Given the description of an element on the screen output the (x, y) to click on. 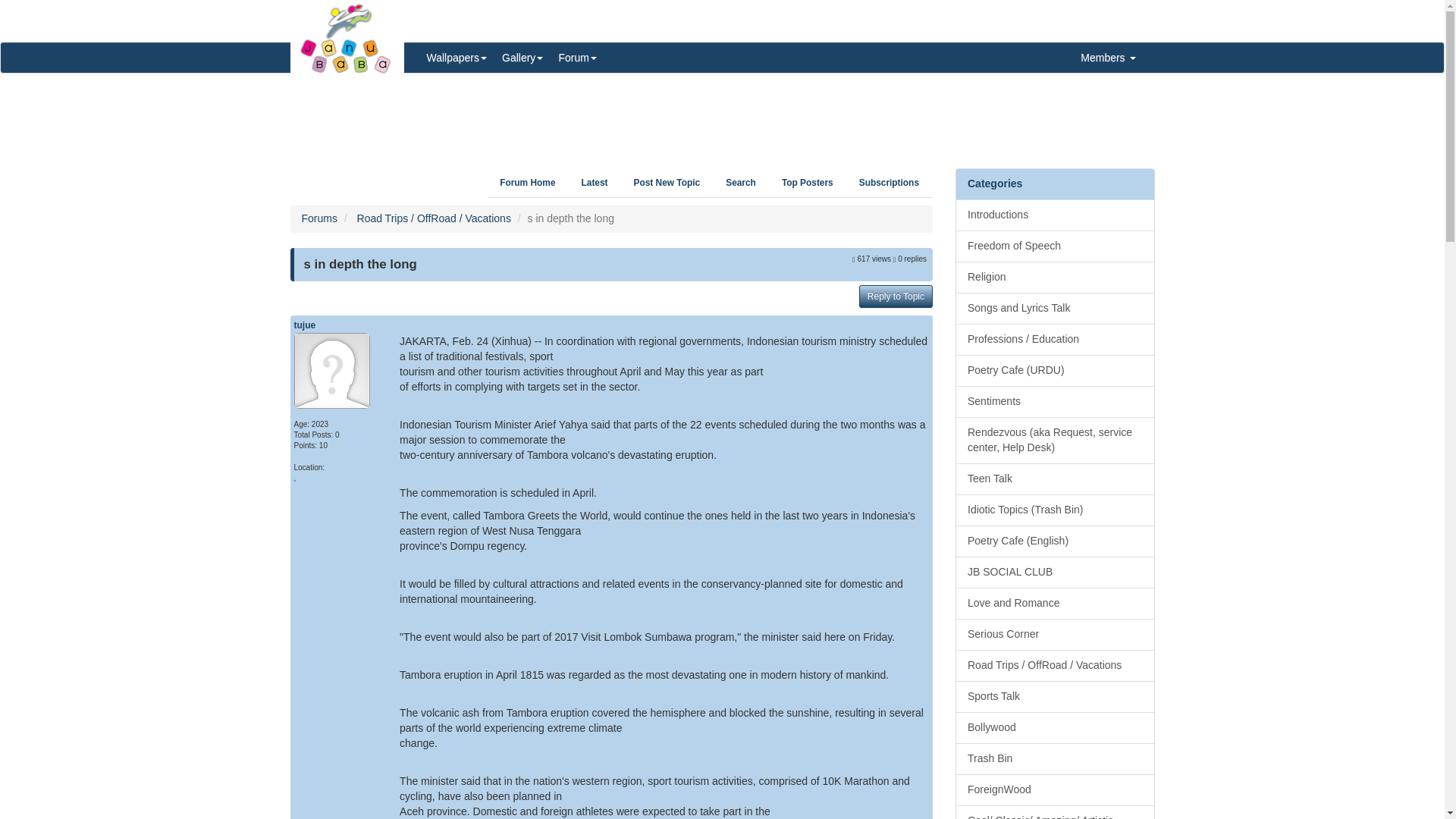
Forum (577, 57)
Advertisement (721, 115)
Wallpapers (457, 57)
Gallery (522, 57)
